Given the description of an element on the screen output the (x, y) to click on. 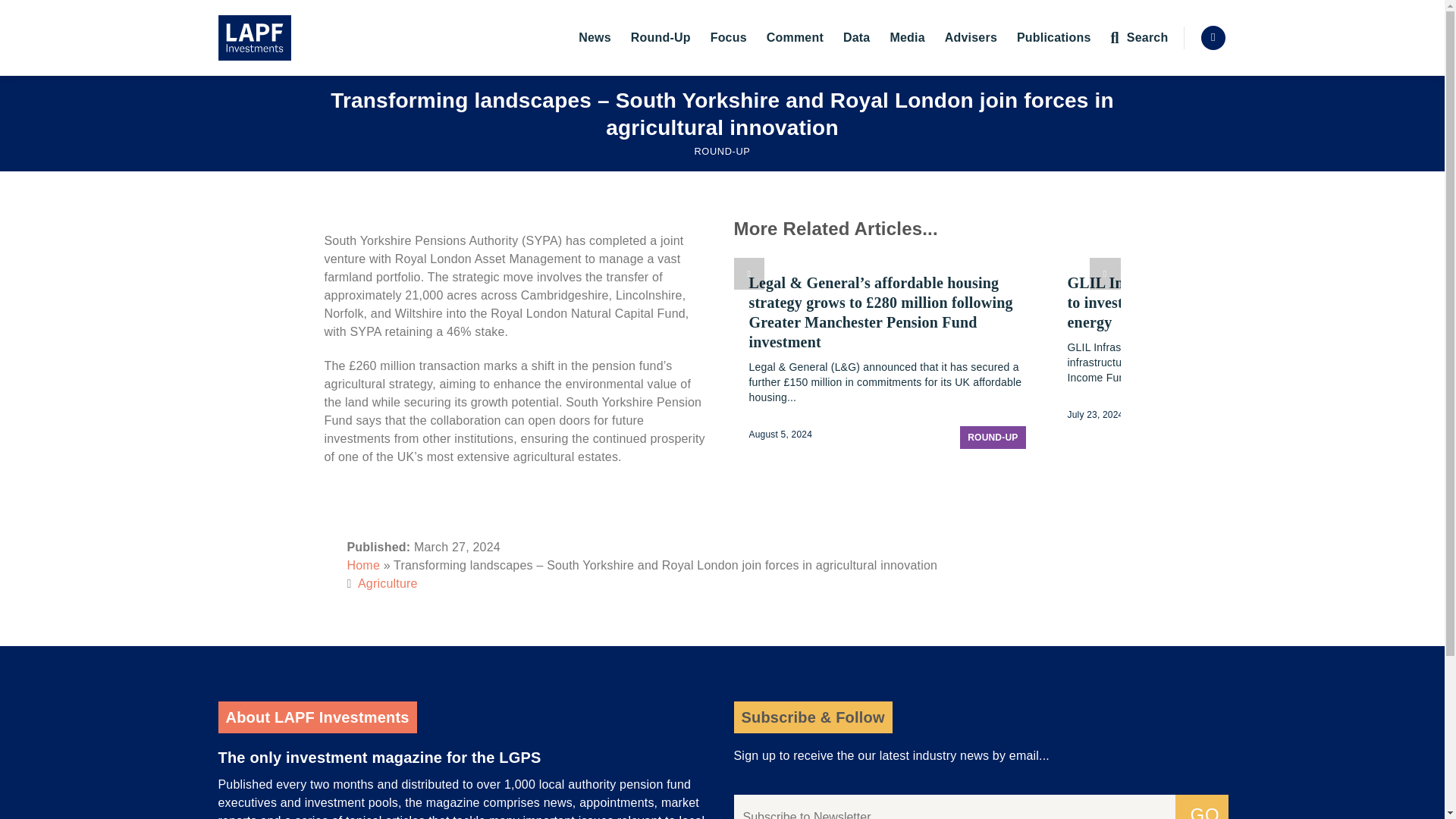
LAPF Investments (293, 38)
Media (906, 37)
Round-Up (660, 37)
Publications (1053, 37)
Data (856, 37)
Comment (795, 37)
Focus (728, 37)
Advisers (970, 37)
Search (1139, 37)
News (594, 37)
